Given the description of an element on the screen output the (x, y) to click on. 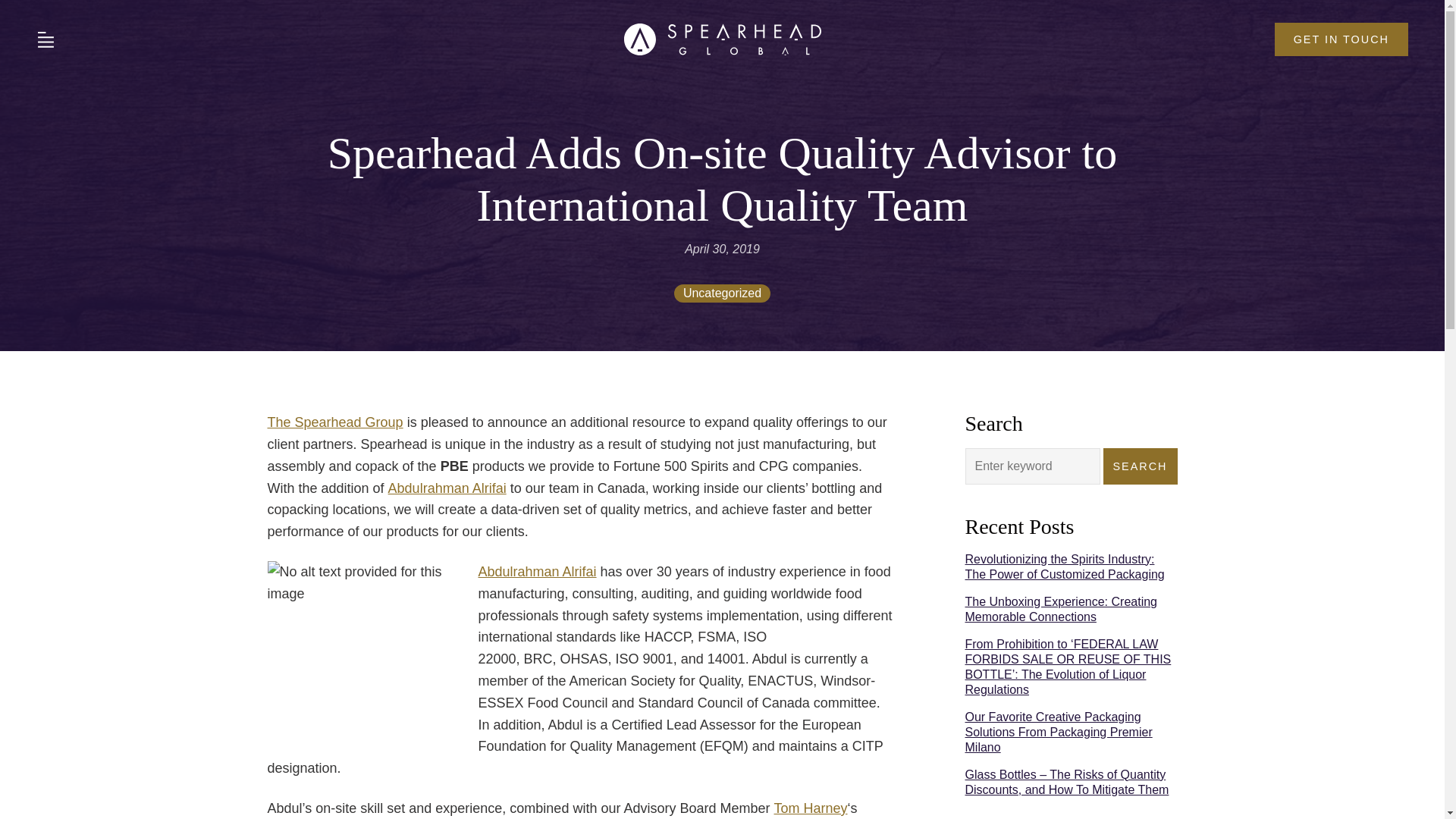
Abdulrahman Alrifai (447, 488)
Abdulrahman Alrifai (536, 571)
Uncategorized (722, 293)
The Spearhead Group (334, 421)
The Unboxing Experience: Creating Memorable Connections (1059, 609)
SEARCH (1140, 465)
Tom Harney (810, 807)
GET IN TOUCH (1341, 39)
